Given the description of an element on the screen output the (x, y) to click on. 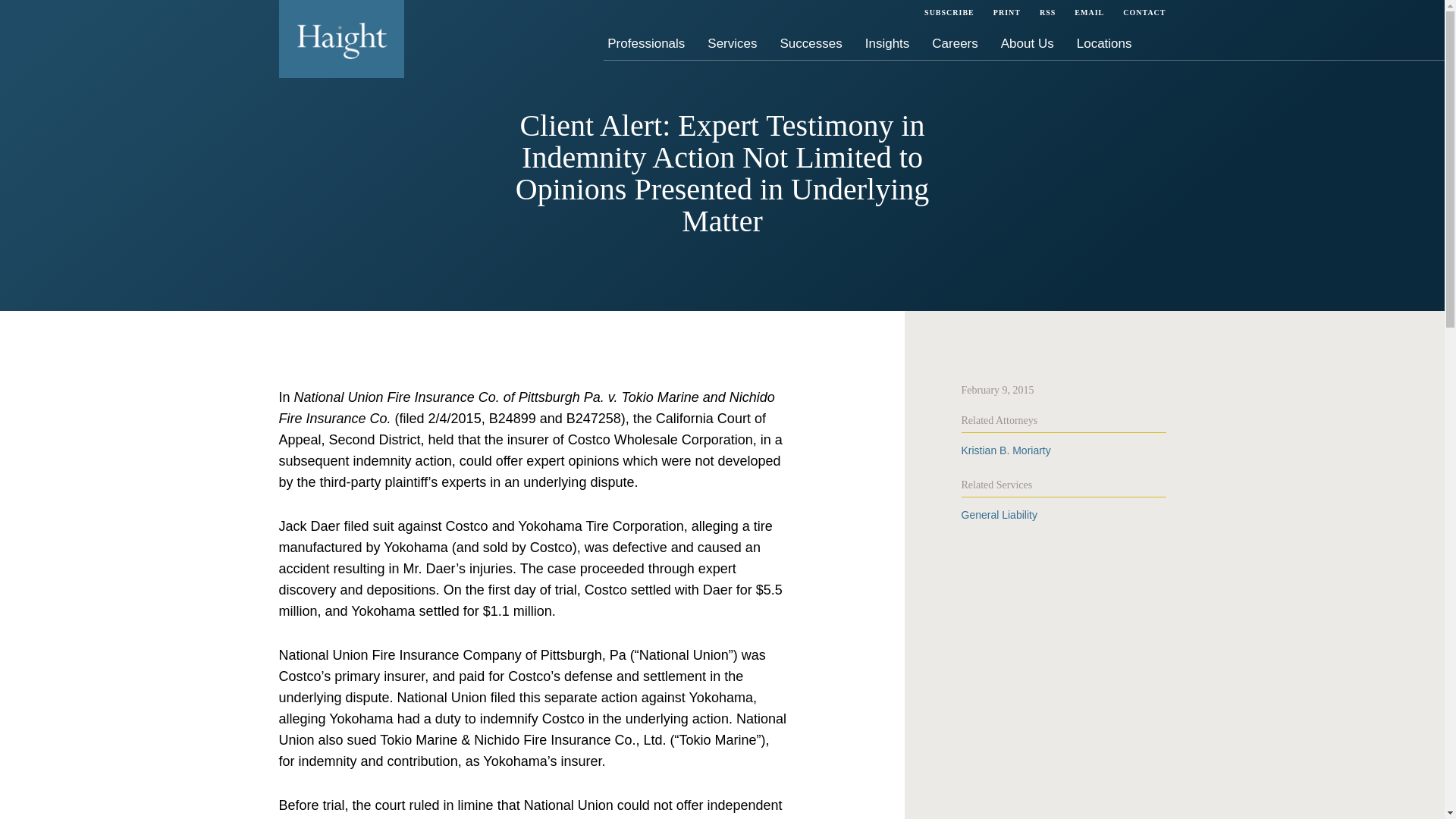
Kristian (1005, 450)
Professionals (646, 43)
General Liability (998, 514)
Kristian B. Moriarty (1005, 450)
Successes (810, 43)
About Us (1027, 43)
RSS (1047, 12)
PRINT (1006, 12)
Email (1089, 12)
Services (731, 43)
Rss (1047, 12)
Contact (1140, 12)
General (998, 514)
Locations (1104, 43)
Careers (954, 43)
